Given the description of an element on the screen output the (x, y) to click on. 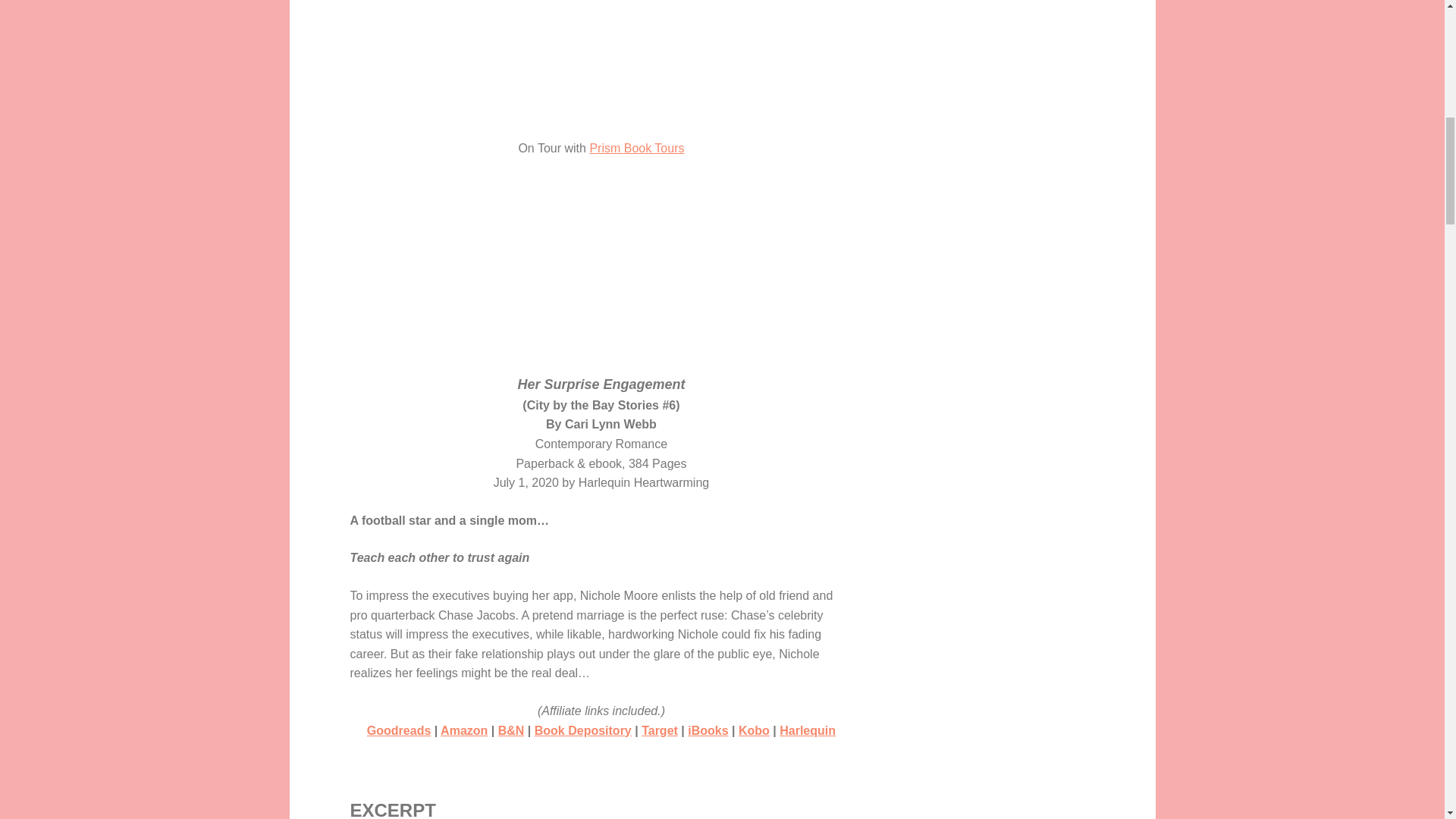
Goodreads (398, 730)
iBooks (707, 730)
Target (660, 730)
Amazon (464, 730)
Prism Book Tours (636, 147)
Kobo (754, 730)
Harlequin (806, 730)
Book Depository (582, 730)
